Given the description of an element on the screen output the (x, y) to click on. 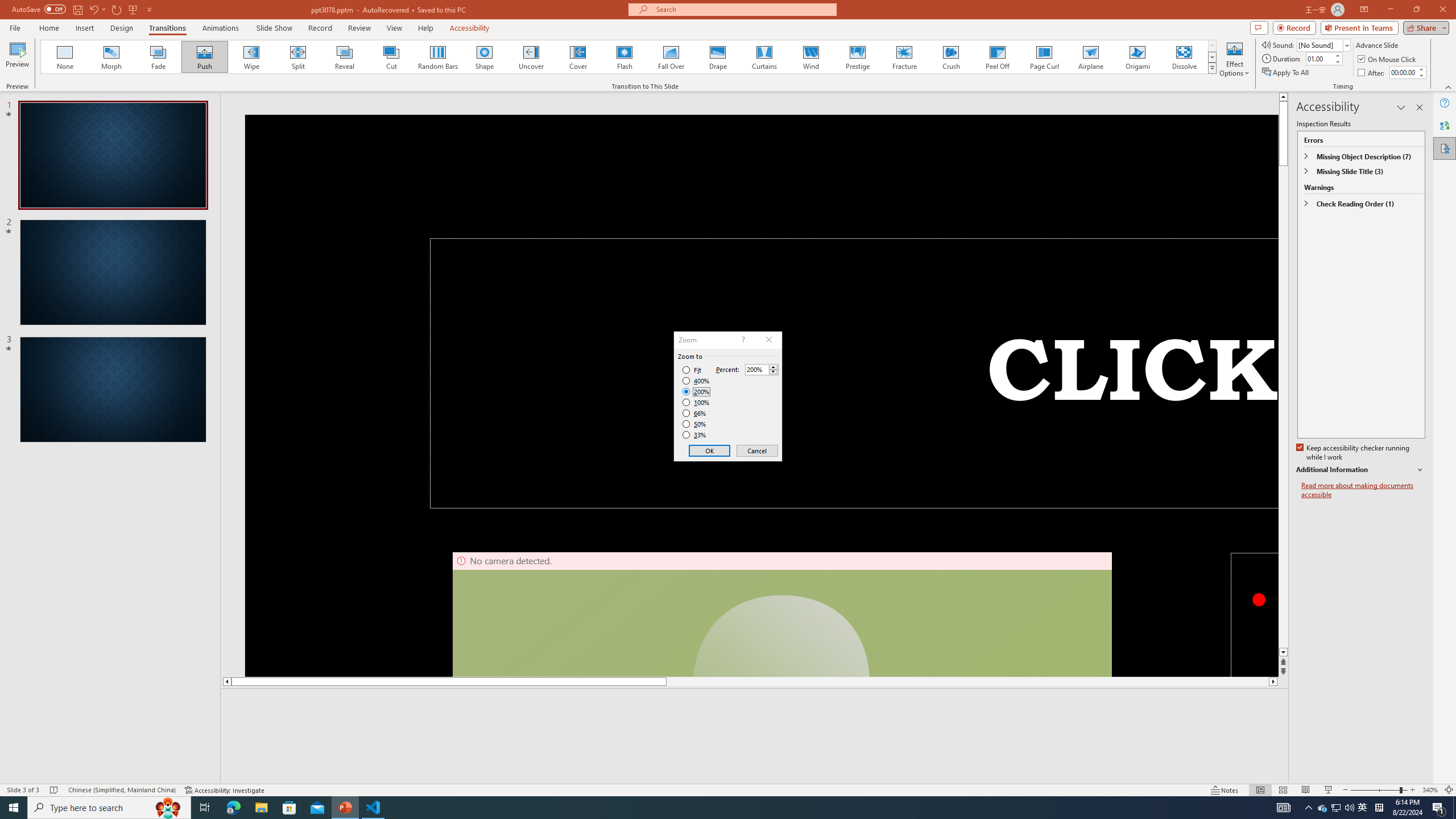
AutomationID: AnimationTransitionGallery (628, 56)
Flash (624, 56)
Push (205, 56)
Fall Over (670, 56)
None (65, 56)
